Given the description of an element on the screen output the (x, y) to click on. 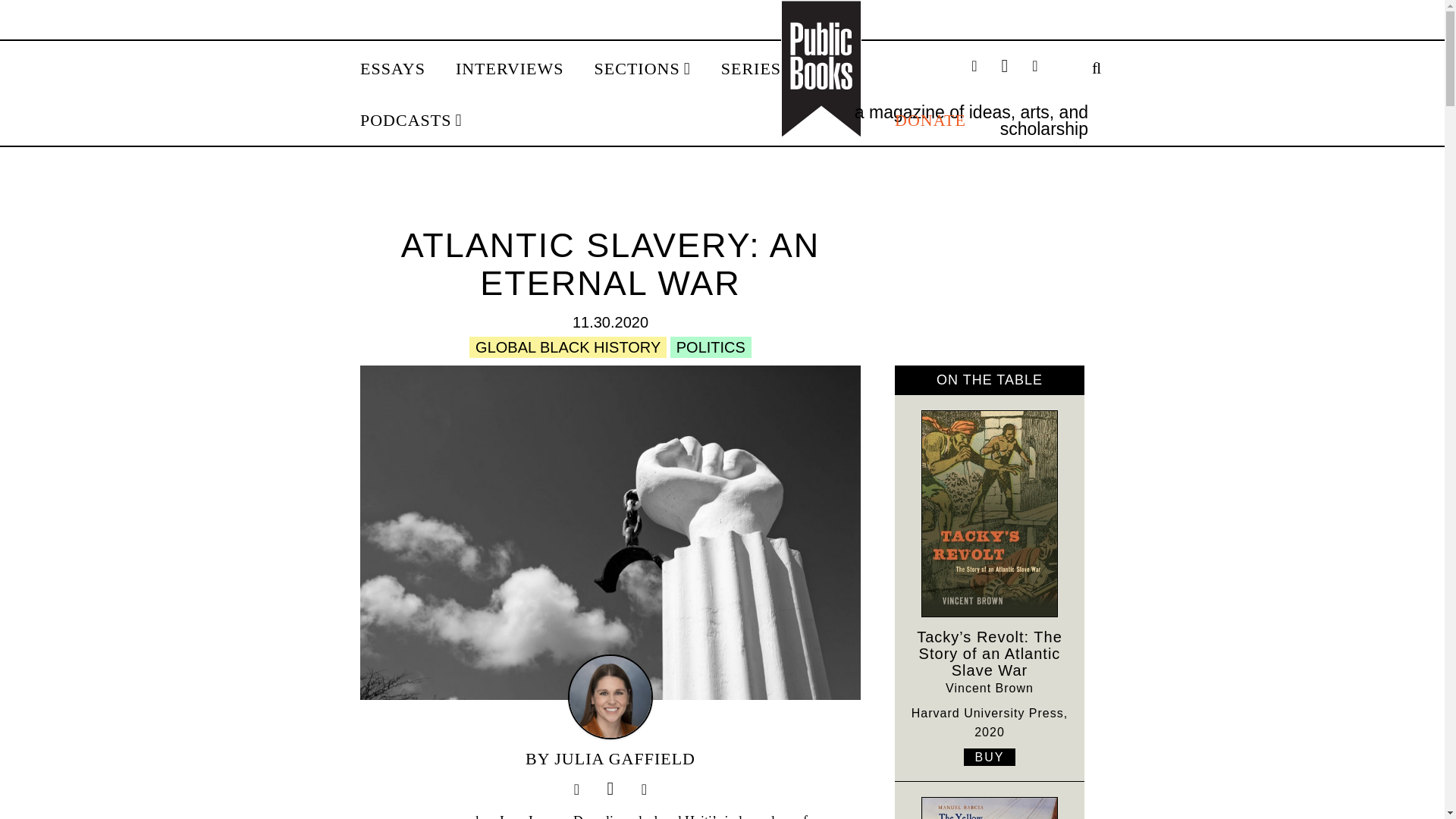
ESSAYS (392, 69)
a magazine of ideas, arts, and scholarship (970, 120)
INTERVIEWS (509, 69)
SECTIONS (642, 69)
SERIES (756, 69)
